Given the description of an element on the screen output the (x, y) to click on. 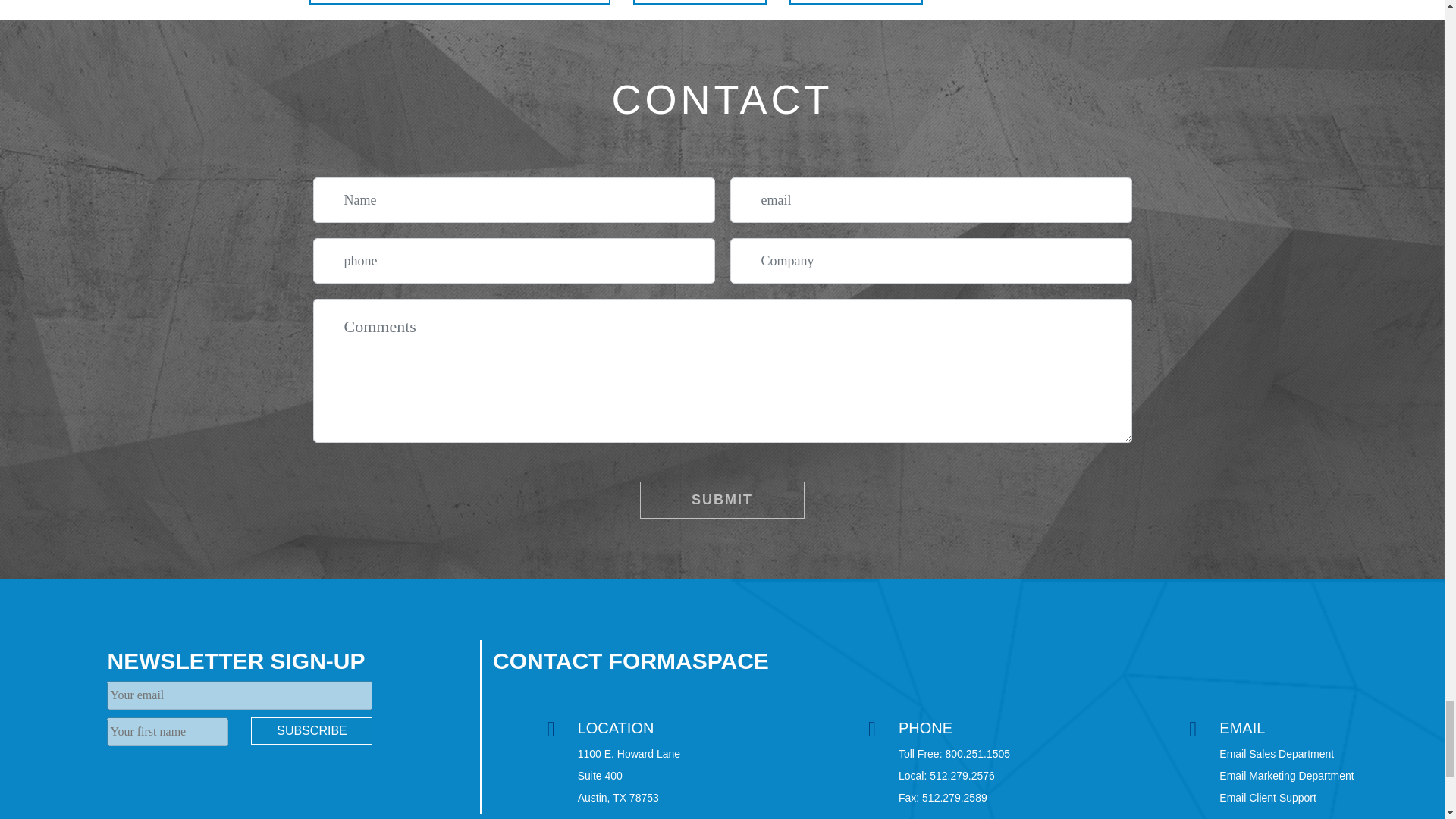
Please insert correct phone number (513, 260)
Subscribe (311, 730)
Please enter company name (930, 260)
